Given the description of an element on the screen output the (x, y) to click on. 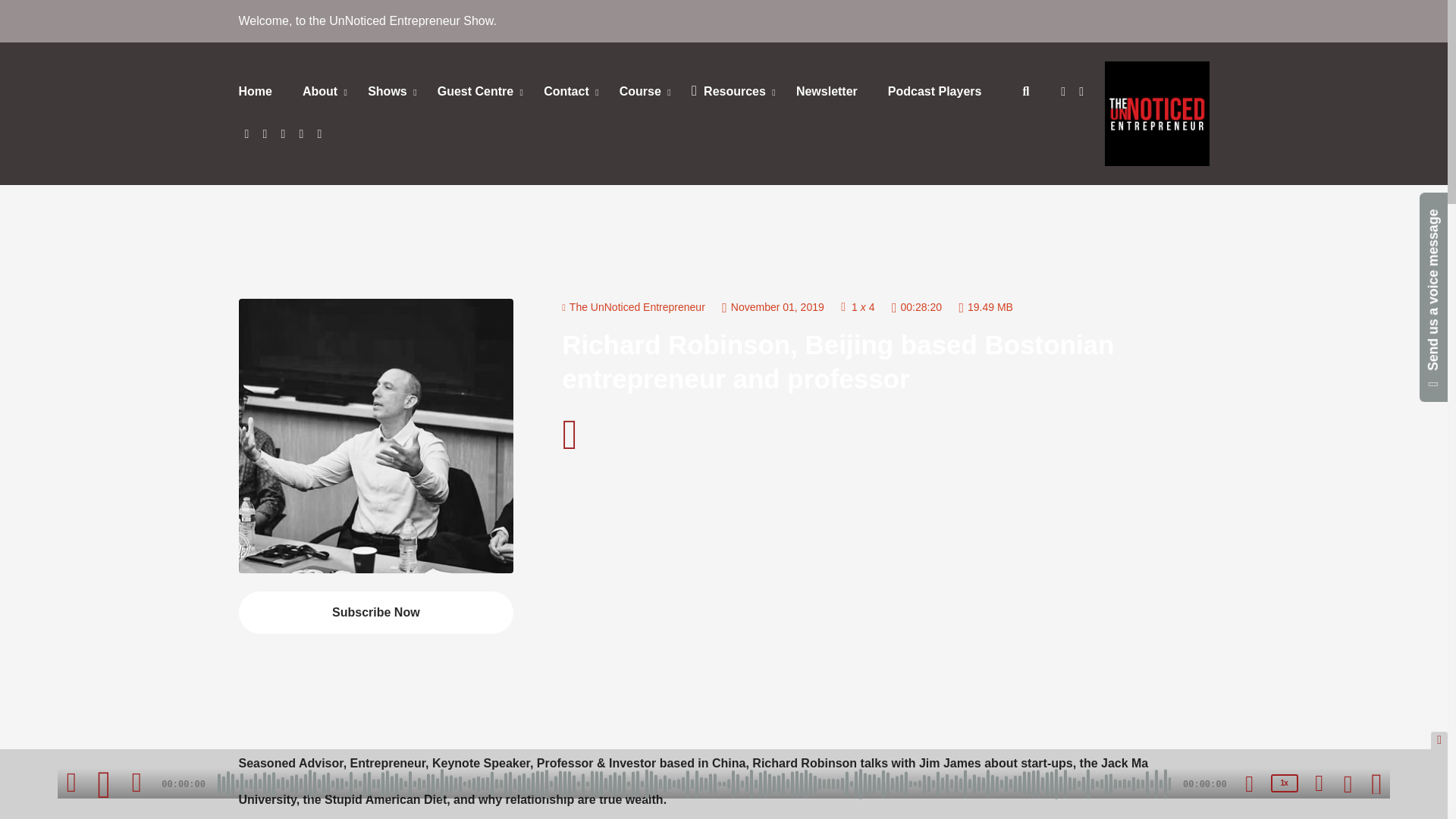
Home (262, 92)
Newsletter (826, 92)
The UnNoticed Entrepreneur (633, 307)
Shows (387, 91)
Episode Weight (985, 306)
Episode Duration (916, 306)
Course (640, 91)
Subscribe Now (375, 612)
Resources (728, 91)
Podcast Players (934, 92)
Contact (566, 91)
Guest Centre (475, 91)
About (319, 91)
Podcast (633, 306)
Date (773, 306)
